Given the description of an element on the screen output the (x, y) to click on. 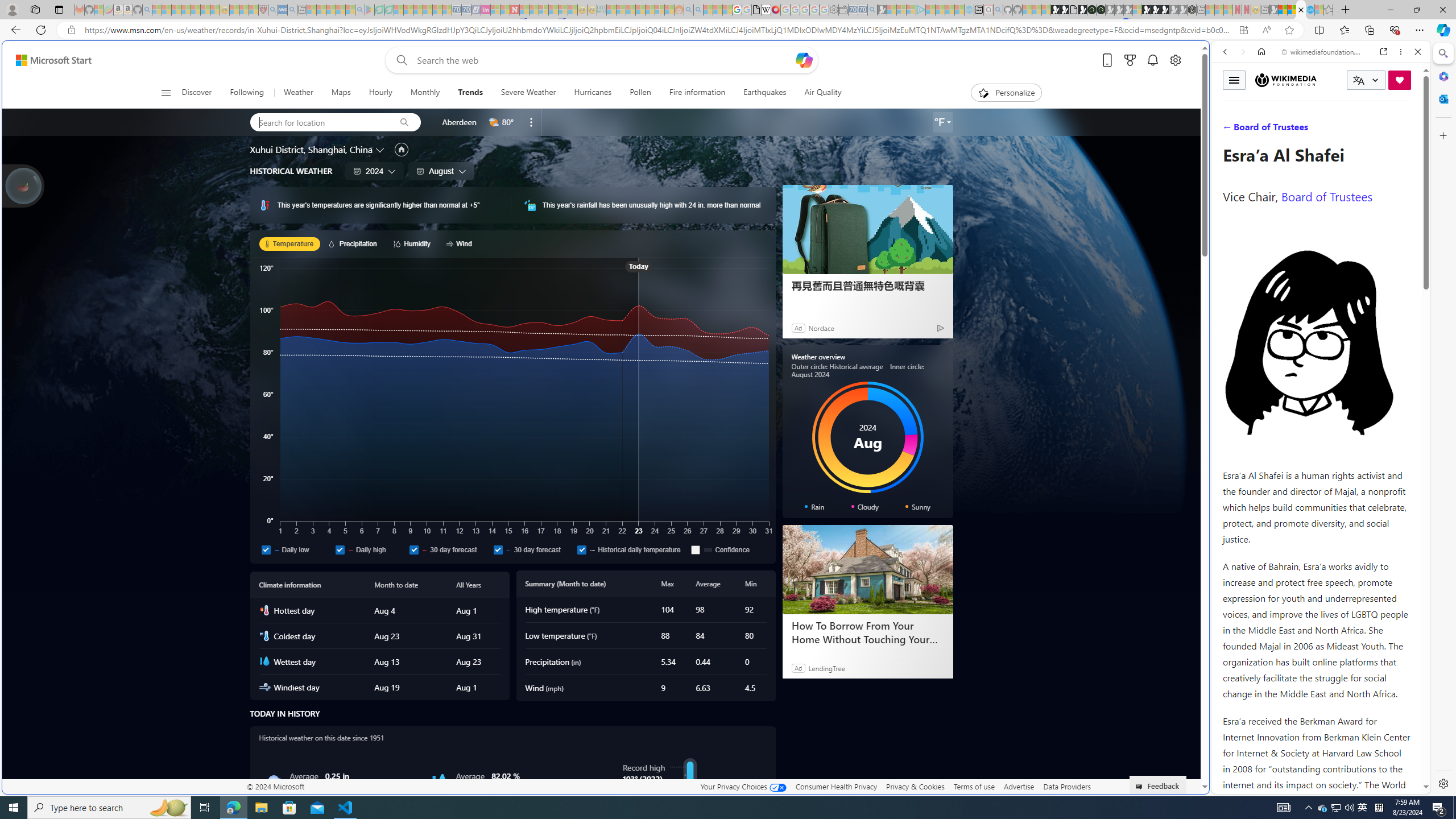
Precipitation (354, 243)
Daily low (265, 549)
MediaWiki (774, 9)
Future Focus Report 2024 (1100, 9)
